Given the description of an element on the screen output the (x, y) to click on. 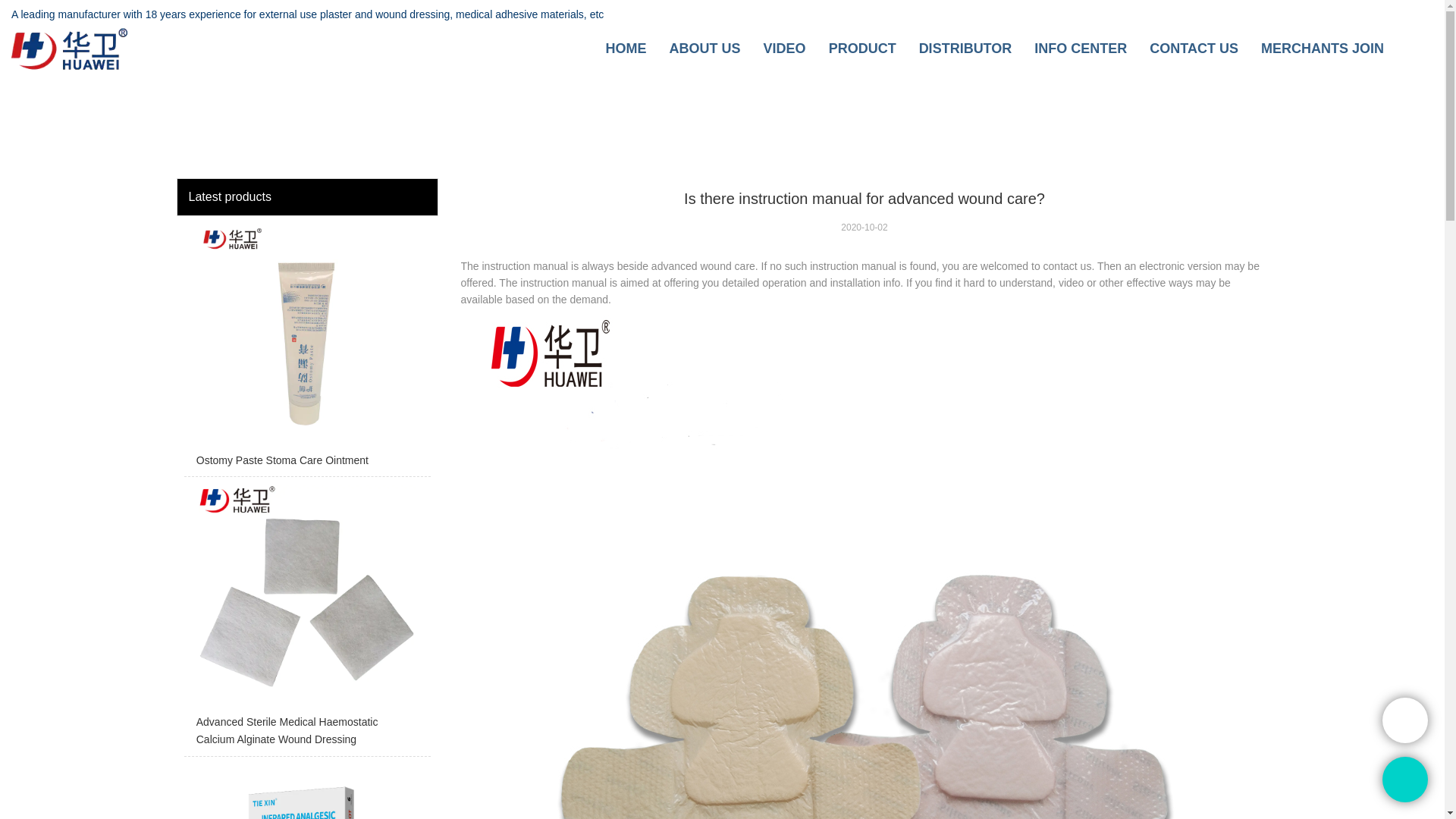
VIDEO (784, 49)
INFO CENTER (1079, 49)
DISTRIBUTOR (964, 49)
PRODUCT (862, 49)
HOME (625, 49)
CONTACT US (1194, 49)
ABOUT US (705, 49)
